Given the description of an element on the screen output the (x, y) to click on. 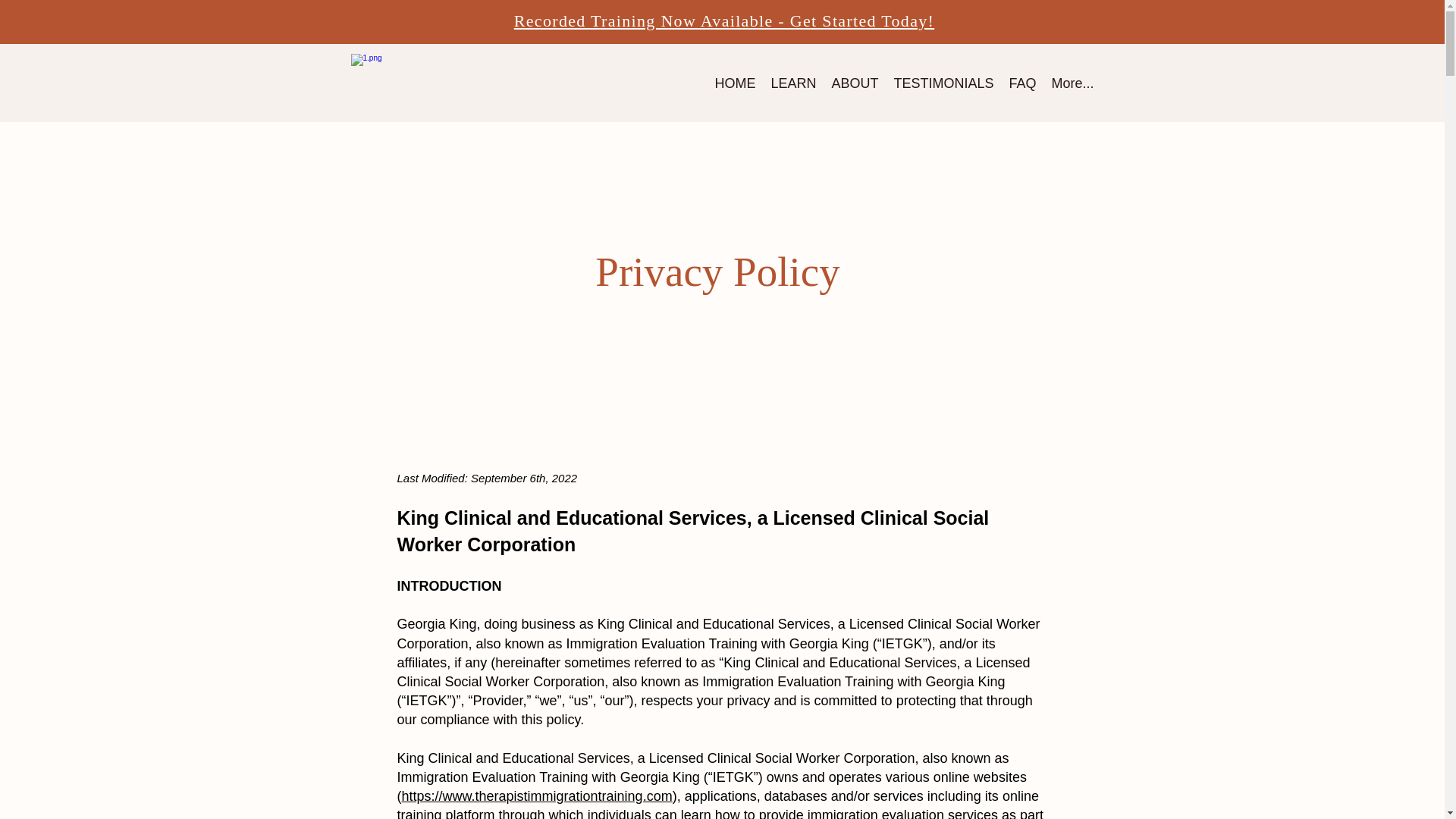
ABOUT (854, 83)
FAQ (1022, 83)
Recorded Training Now Available - Get Started Today! (723, 20)
TESTIMONIALS (943, 83)
HOME (734, 83)
